Given the description of an element on the screen output the (x, y) to click on. 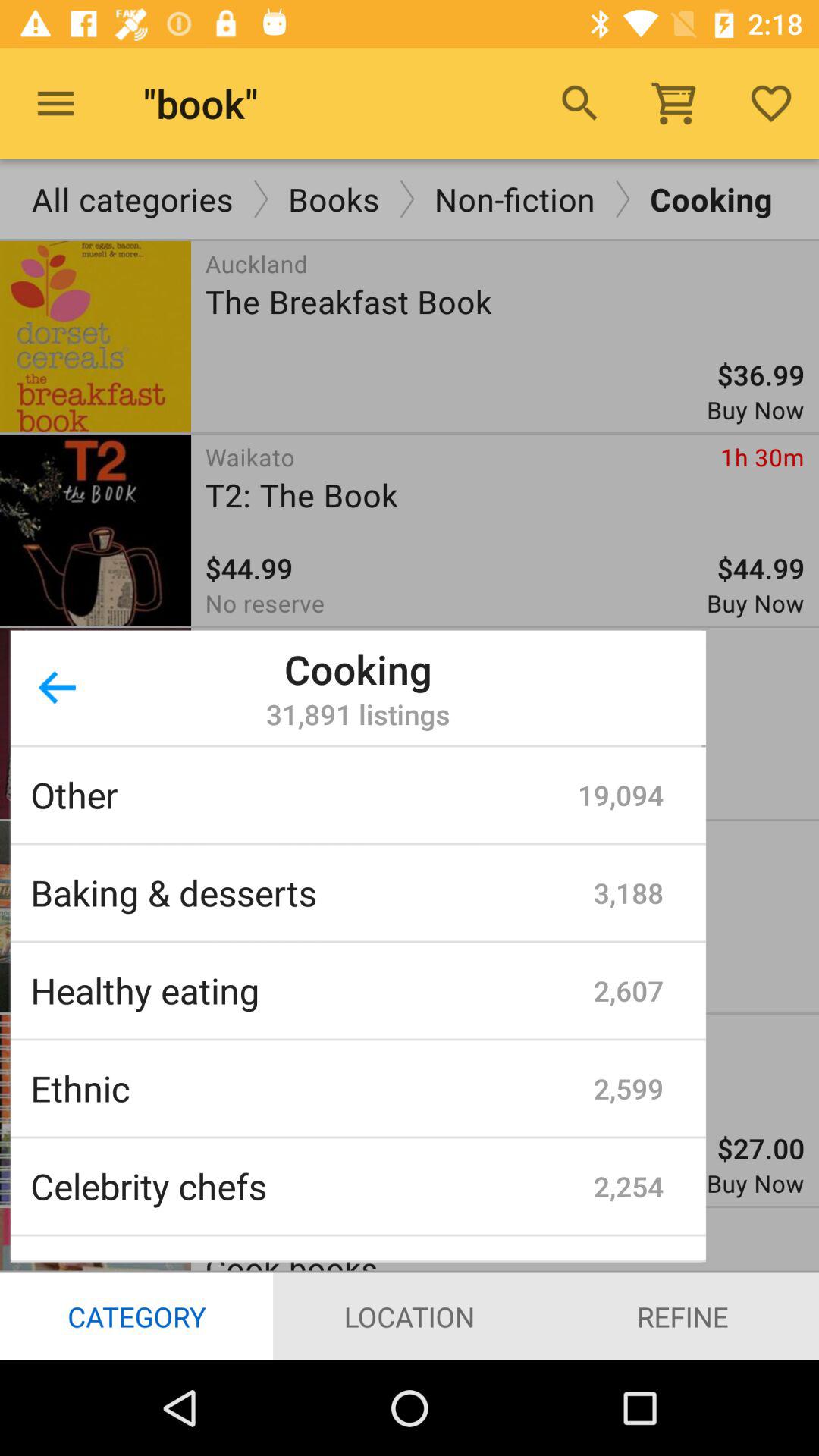
turn on the item to the left of 2,607 (311, 990)
